Given the description of an element on the screen output the (x, y) to click on. 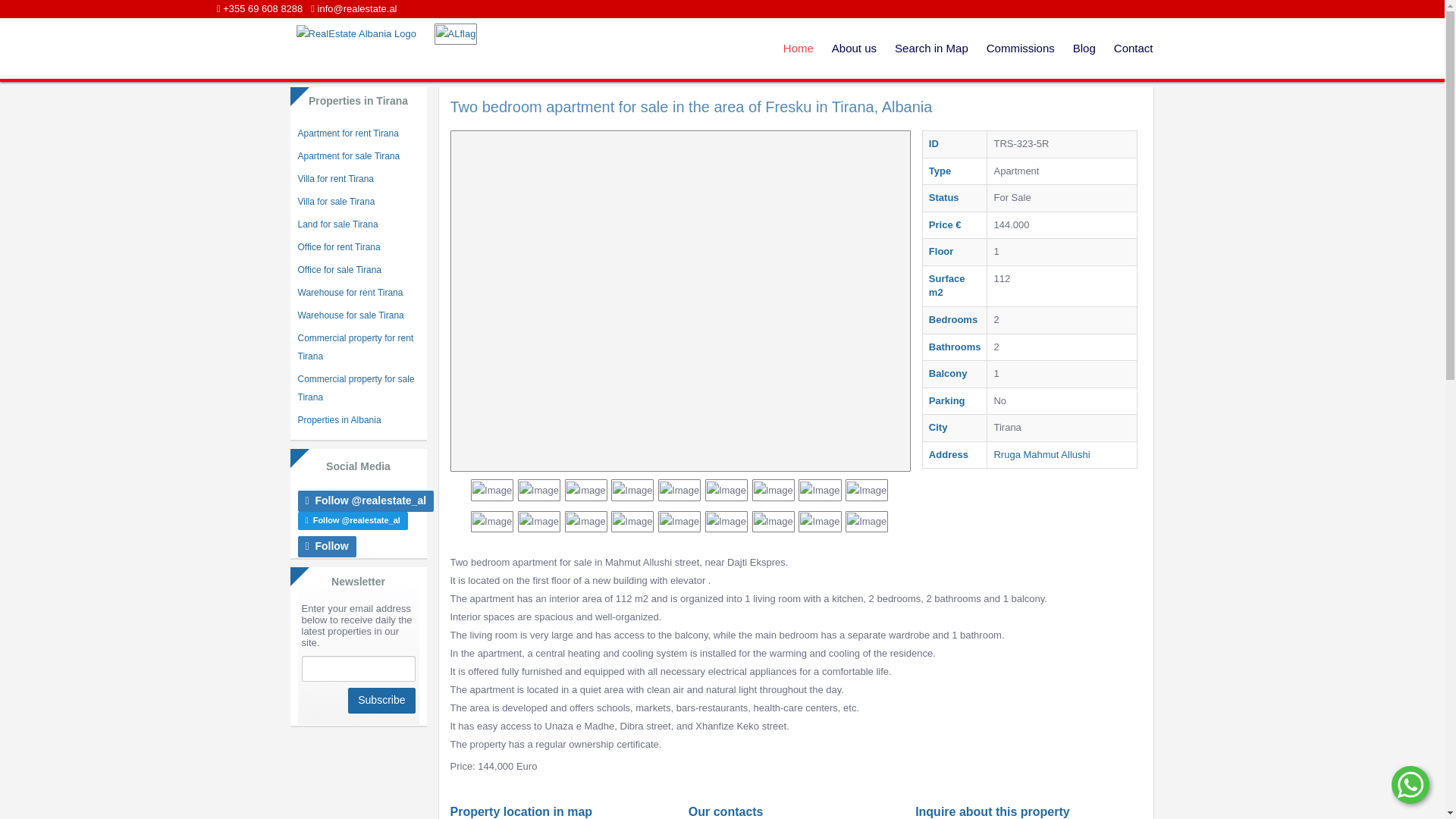
Image (585, 521)
Image (632, 490)
Image (585, 490)
Image (725, 521)
Image (773, 490)
Search in Map (930, 48)
ALflag (455, 34)
Image (539, 521)
Real Estate Albania Logo (354, 34)
Image (632, 521)
